Given the description of an element on the screen output the (x, y) to click on. 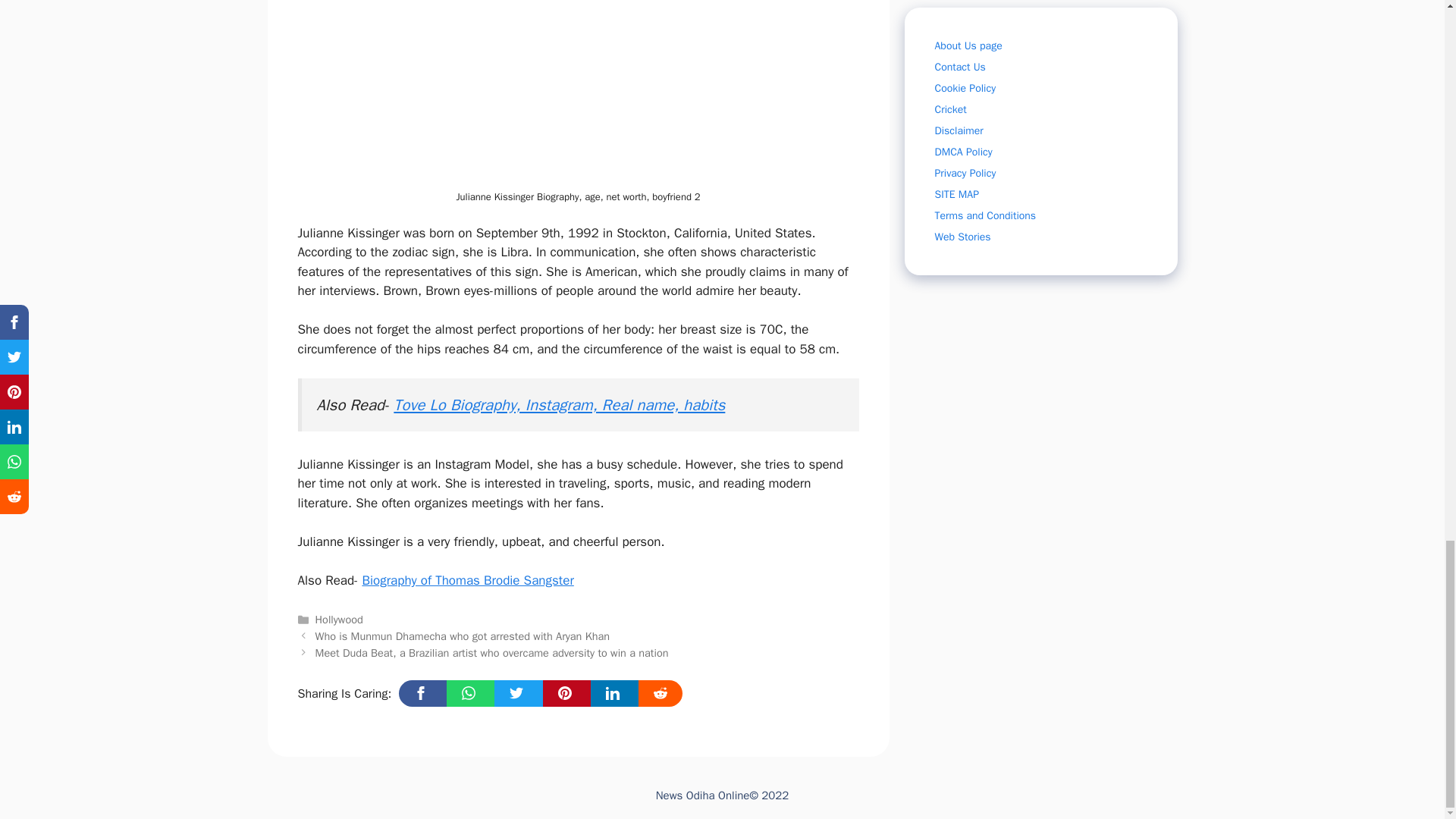
Julianne Kissinger (460, 92)
Who is Munmun Dhamecha who got arrested with Aryan Khan (462, 635)
Hollywood (338, 619)
Tove Lo Biography, Instagram, Real name, habits (559, 404)
Biography of Thomas Brodie Sangster (467, 580)
